Given the description of an element on the screen output the (x, y) to click on. 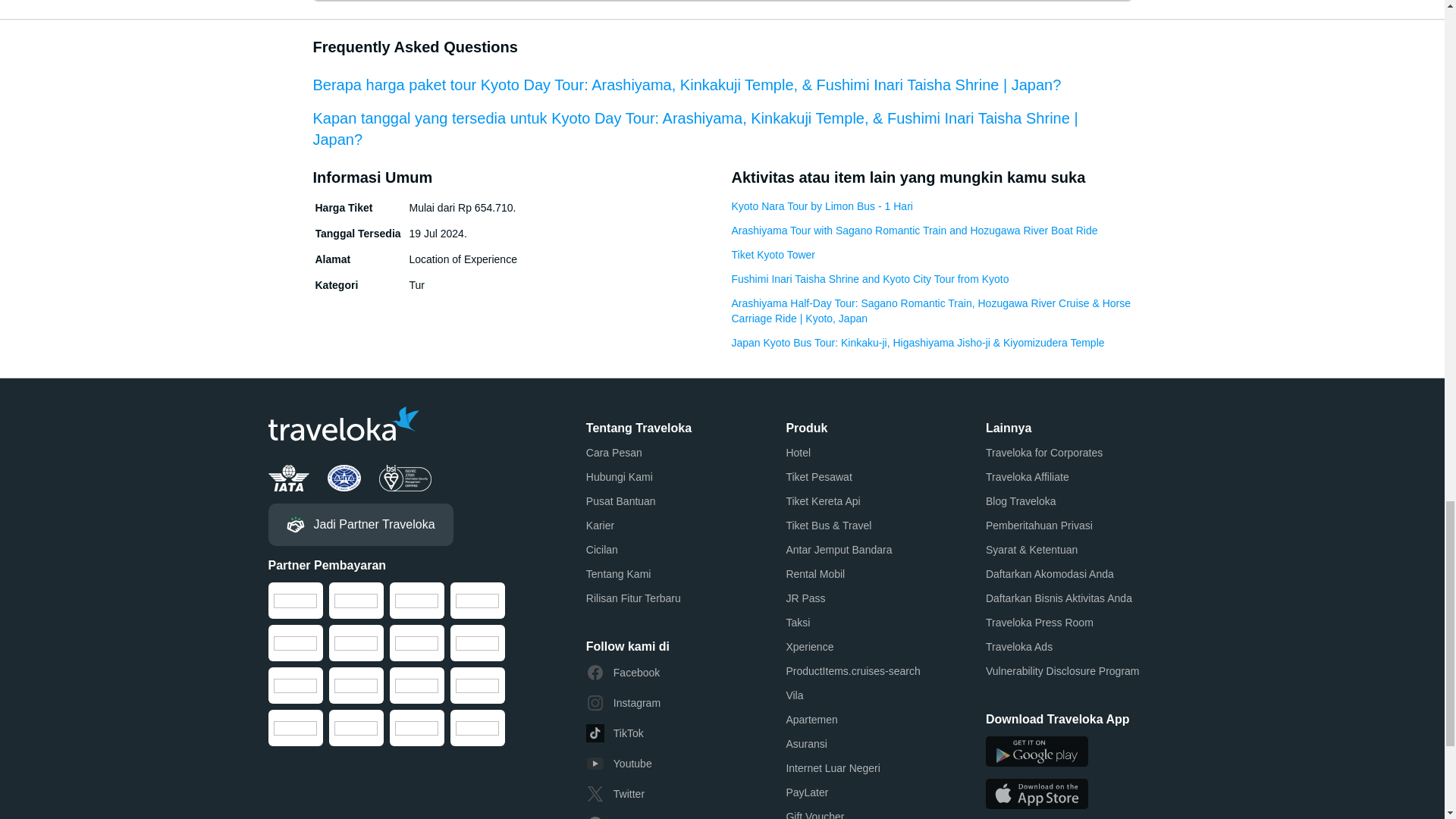
Pusat Bantuan (621, 500)
Tiket Kyoto Tower (772, 254)
Tentang Kami (618, 573)
Hubungi Kami (619, 476)
Karier (600, 525)
Rilisan Fitur Terbaru (633, 598)
Kyoto Nara Tour by Limon Bus - 1 Hari (821, 206)
Fushimi Inari Taisha Shrine and Kyoto City Tour from Kyoto (869, 278)
Jadi Partner Traveloka (359, 524)
Cicilan (601, 549)
Cara Pesan (614, 452)
